Given the description of an element on the screen output the (x, y) to click on. 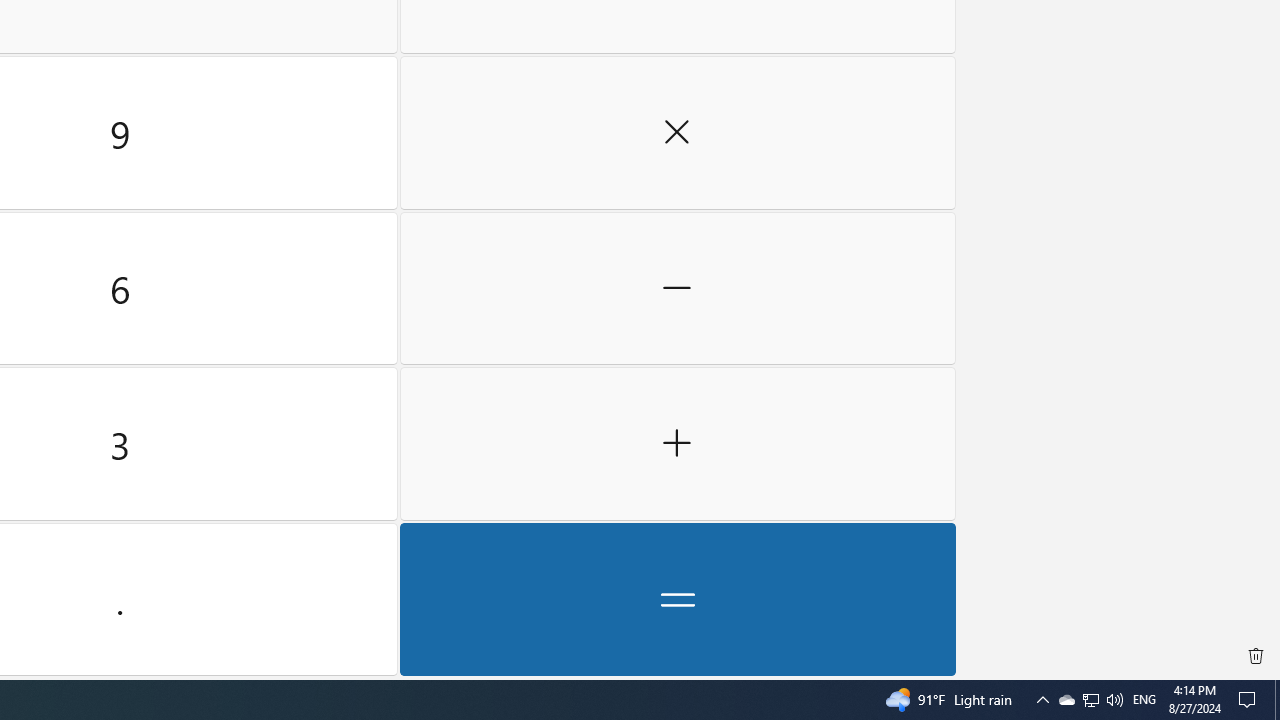
Multiply by (677, 133)
Equals (677, 599)
Q2790: 100% (1114, 699)
Show desktop (1277, 699)
Action Center, No new notifications (1250, 699)
Tray Input Indicator - English (United States) (1144, 699)
Notification Chevron (1042, 699)
User Promoted Notification Area (1090, 699)
Minus (1091, 699)
Clear all history (677, 288)
Plus (1256, 655)
